Given the description of an element on the screen output the (x, y) to click on. 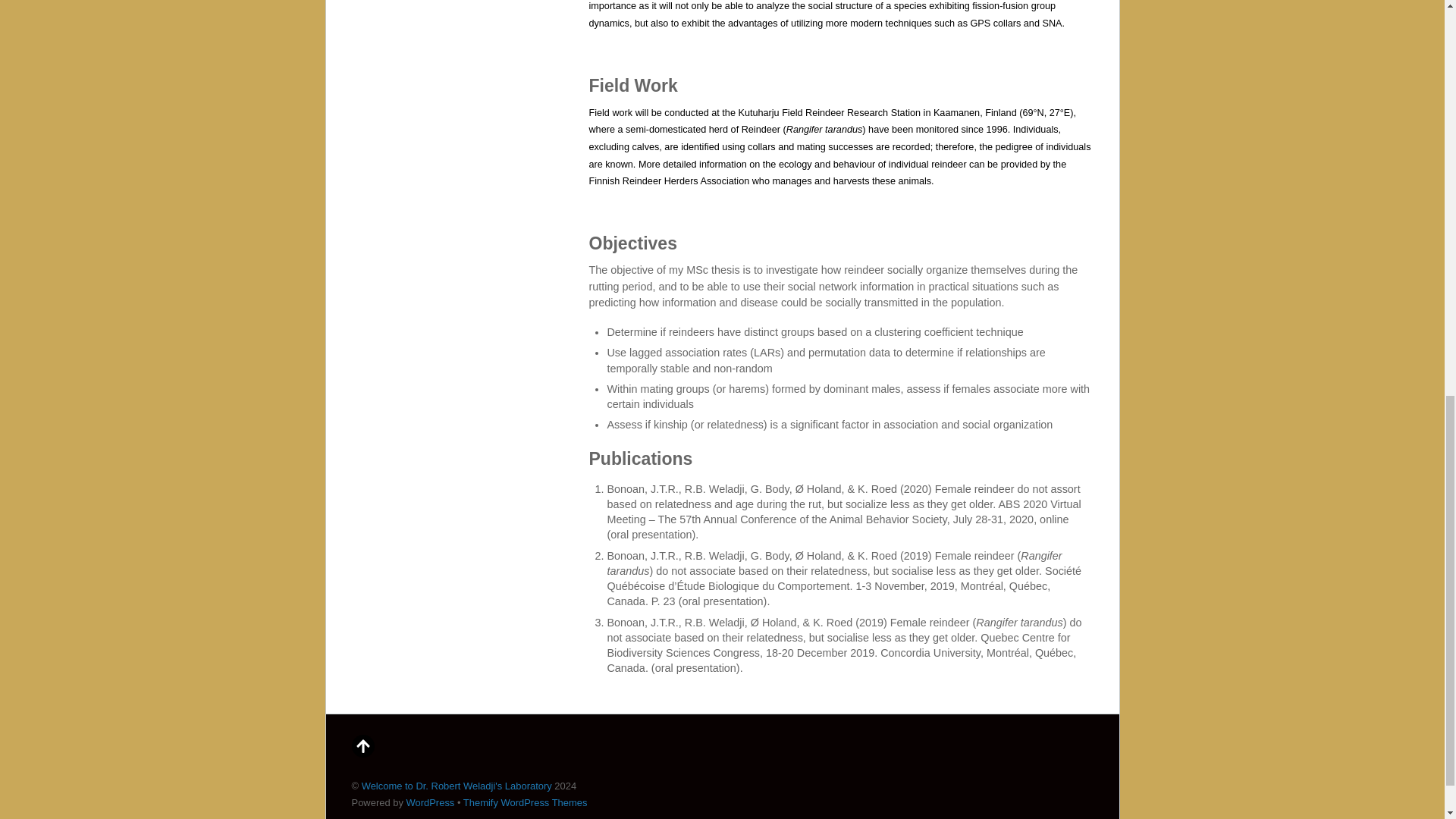
Themify WordPress Themes (525, 802)
WordPress (430, 802)
Welcome to Dr. Robert Weladji's Laboratory (456, 785)
